Given the description of an element on the screen output the (x, y) to click on. 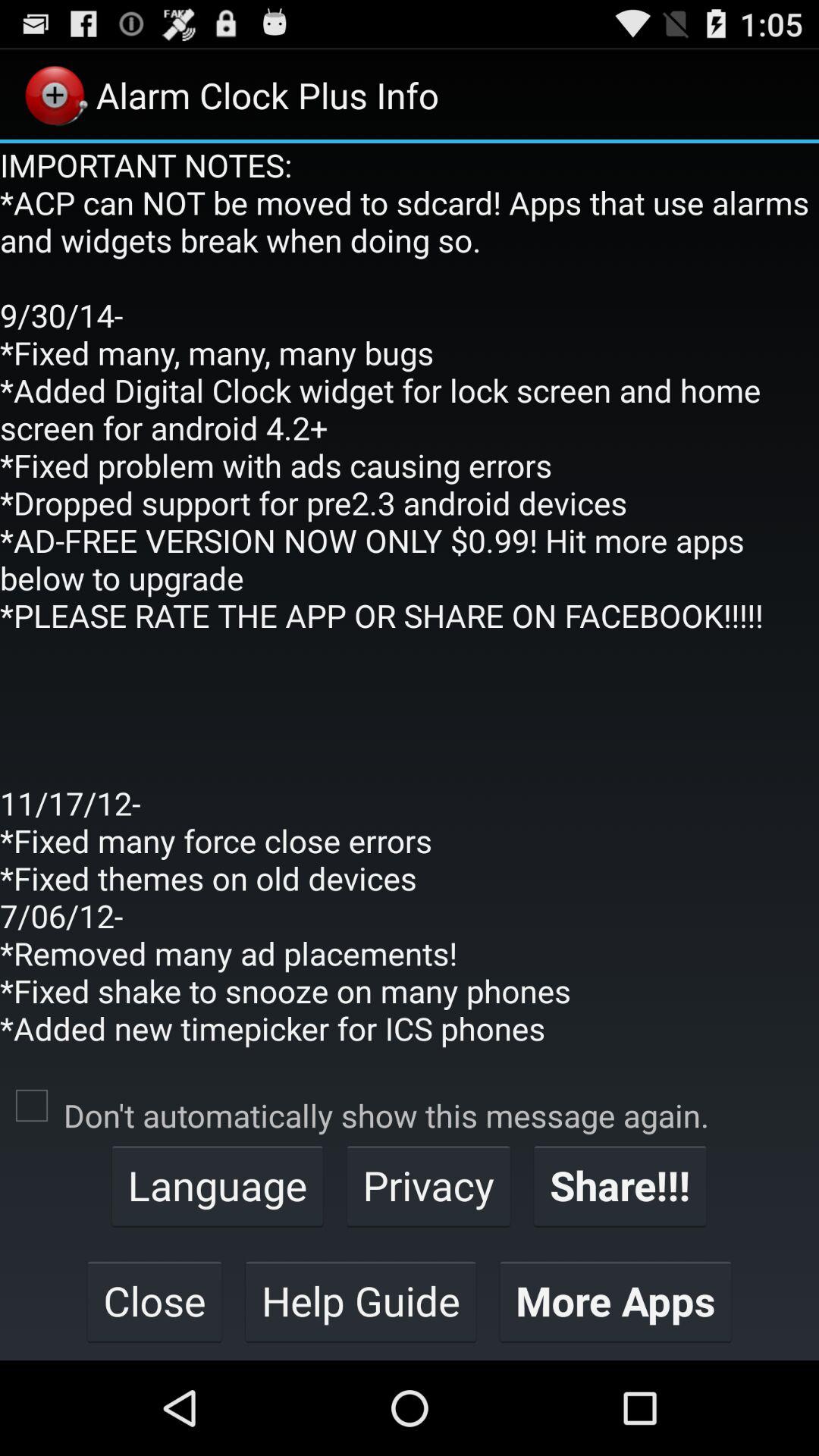
open the app next to don t automatically item (31, 1105)
